Given the description of an element on the screen output the (x, y) to click on. 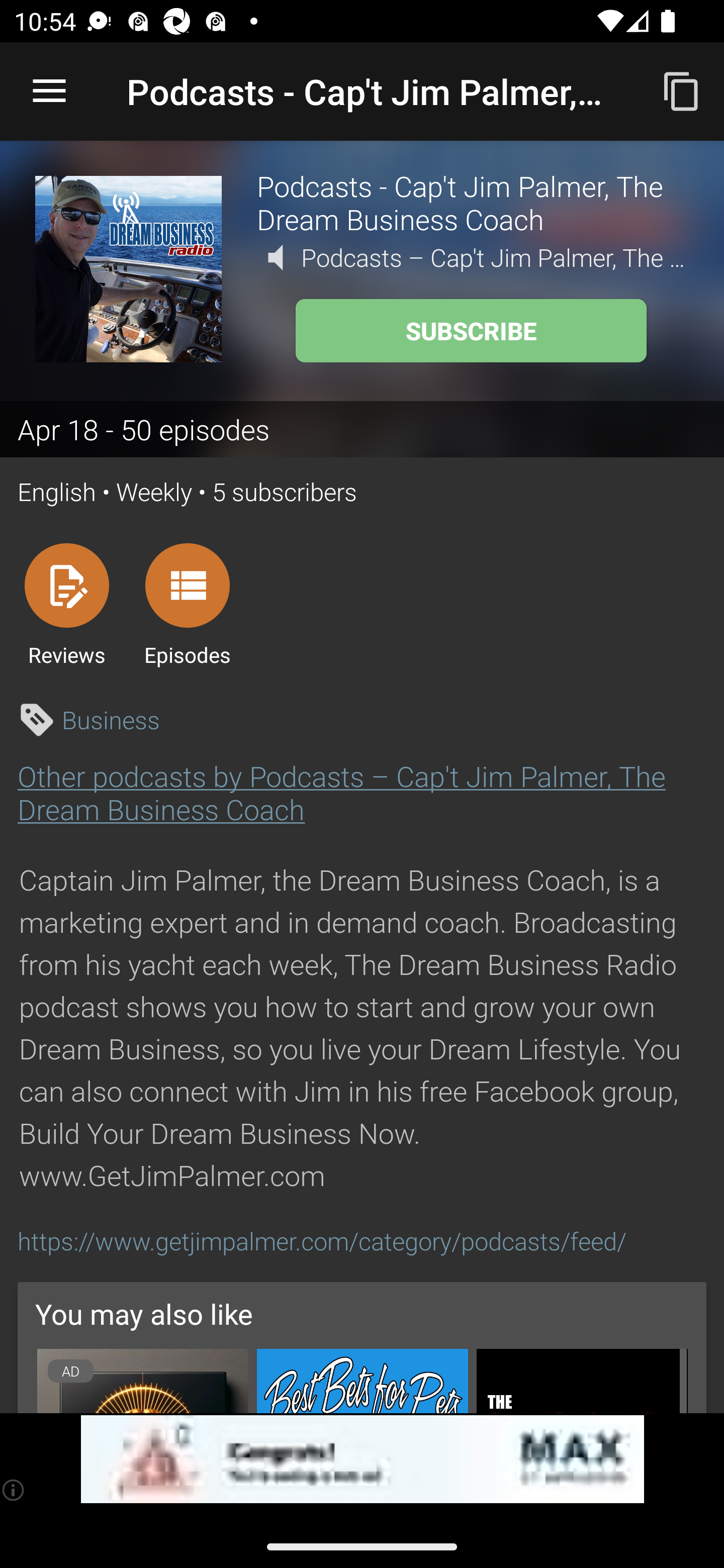
Open navigation sidebar (49, 91)
Copy feed url to clipboard (681, 90)
SUBSCRIBE (470, 330)
Reviews (66, 604)
Episodes (187, 604)
app-monetization (362, 1459)
(i) (14, 1489)
